Given the description of an element on the screen output the (x, y) to click on. 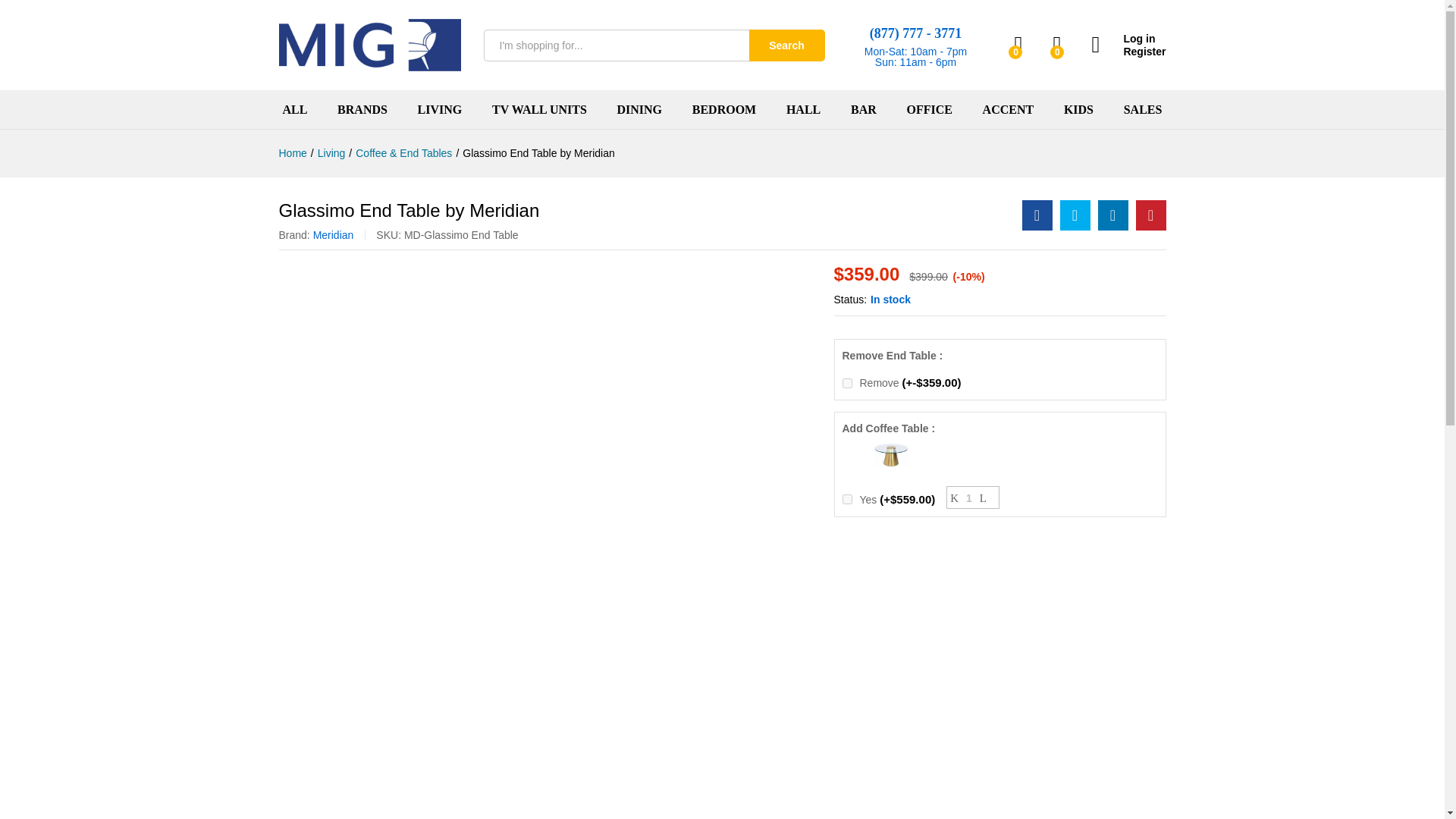
Remove (846, 383)
Hallway Furniture (803, 110)
Yes (846, 499)
Glassimo End Table by Meridian (1037, 214)
Register (1128, 51)
Bar Furniture (863, 110)
Kids Furniture (1078, 110)
BRANDS (362, 110)
ALL (294, 110)
Bedroom Furniture (724, 110)
